Given the description of an element on the screen output the (x, y) to click on. 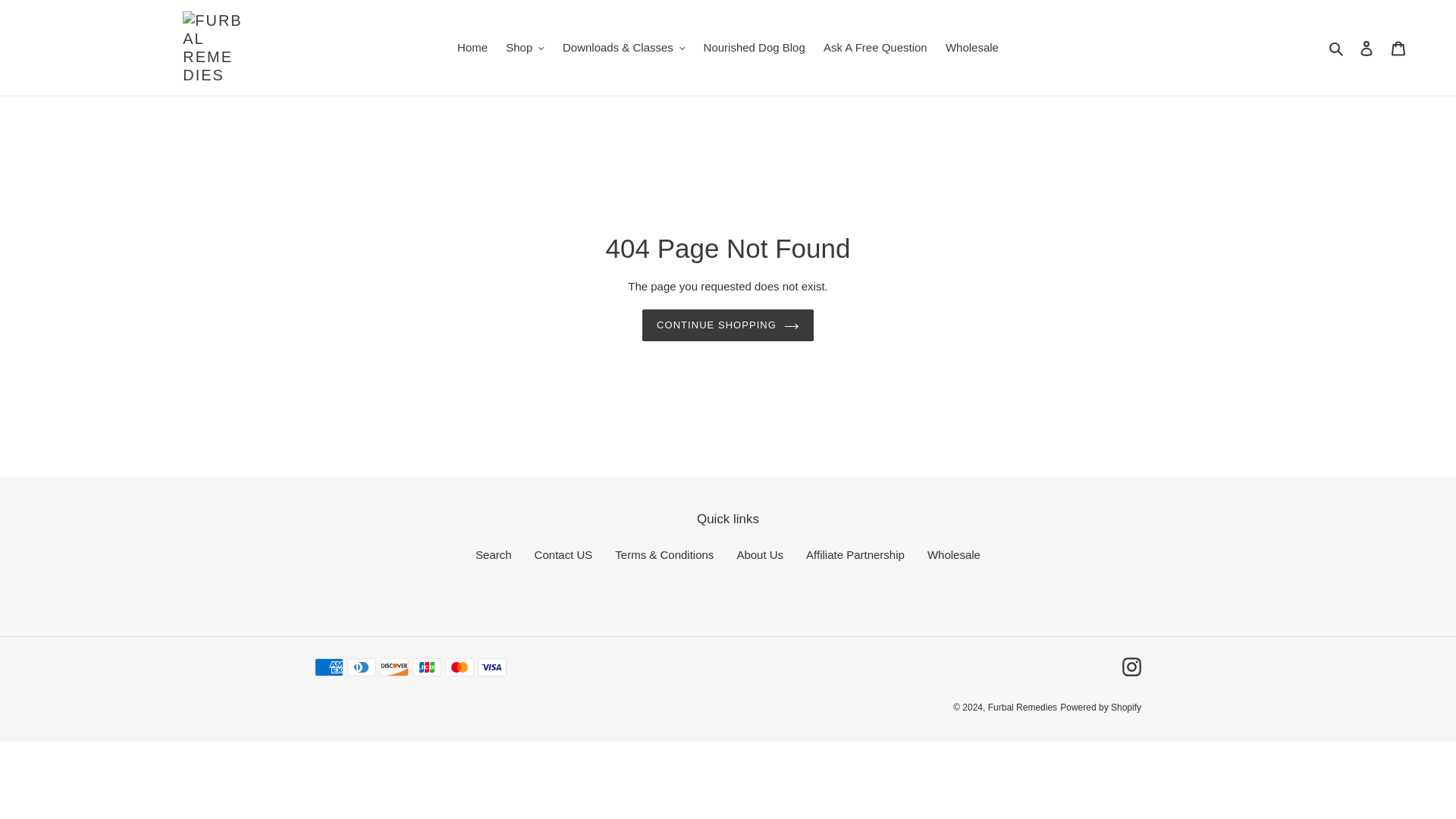
Log in (1366, 47)
Ask A Free Question (874, 47)
Shop (524, 47)
Home (472, 47)
Nourished Dog Blog (753, 47)
Wholesale (971, 47)
Search (1337, 47)
